Given the description of an element on the screen output the (x, y) to click on. 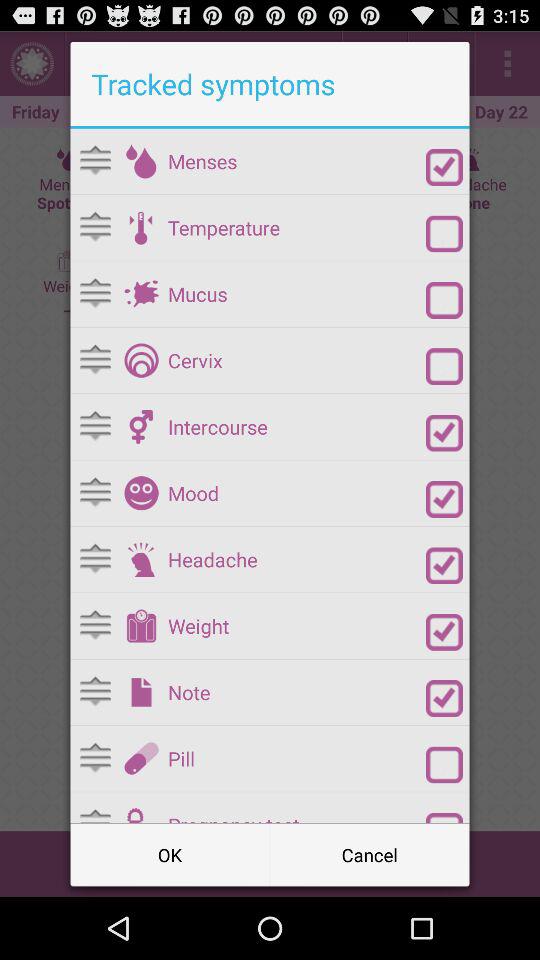
select to weight option (141, 626)
